Given the description of an element on the screen output the (x, y) to click on. 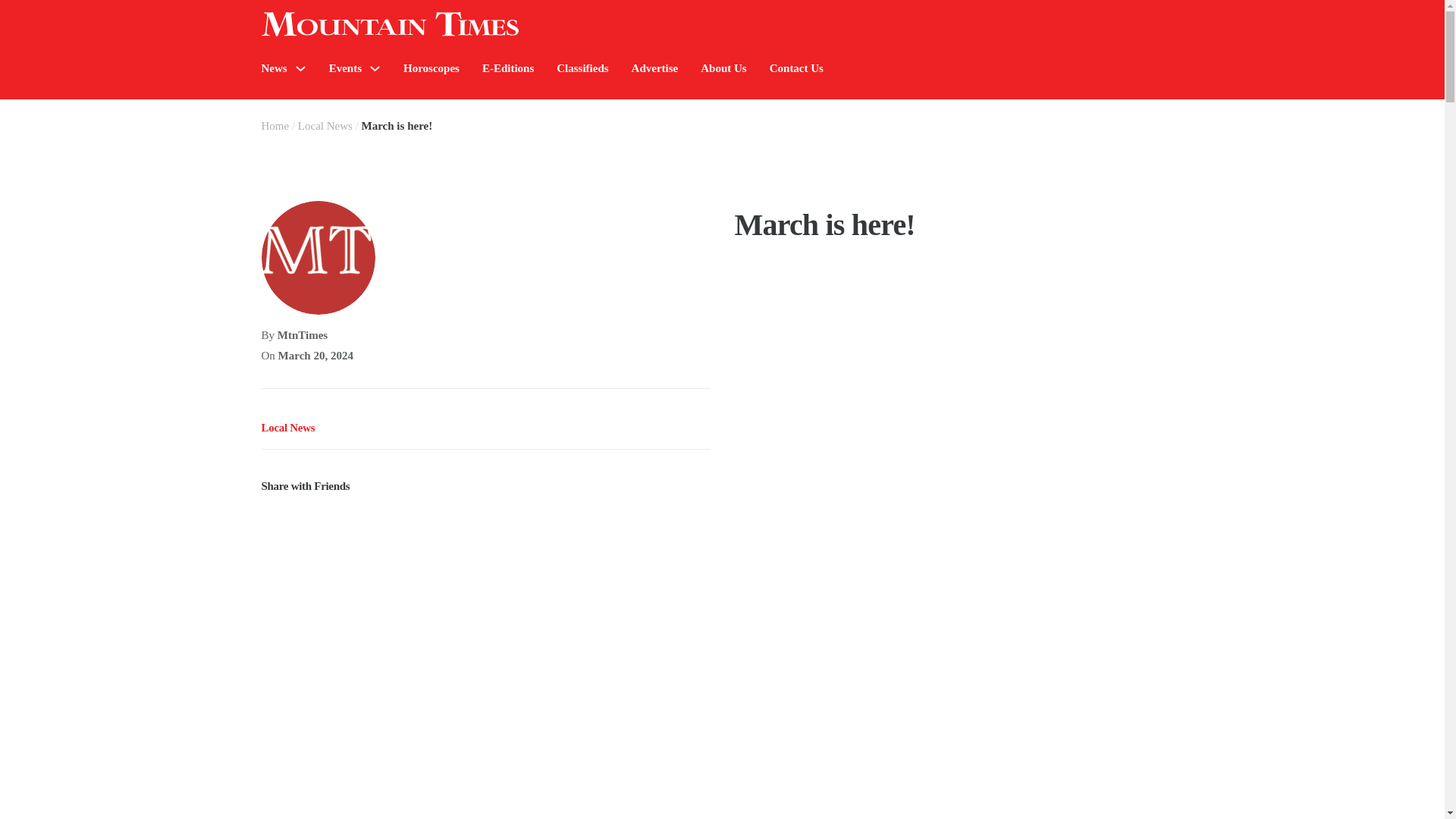
Home (274, 125)
Local News (325, 125)
Local News (287, 427)
Events (345, 67)
Search (1274, 114)
Advertise (654, 67)
E-Editions (507, 67)
MtnTimes (302, 335)
Contact Us (797, 67)
Classifieds (582, 67)
